Given the description of an element on the screen output the (x, y) to click on. 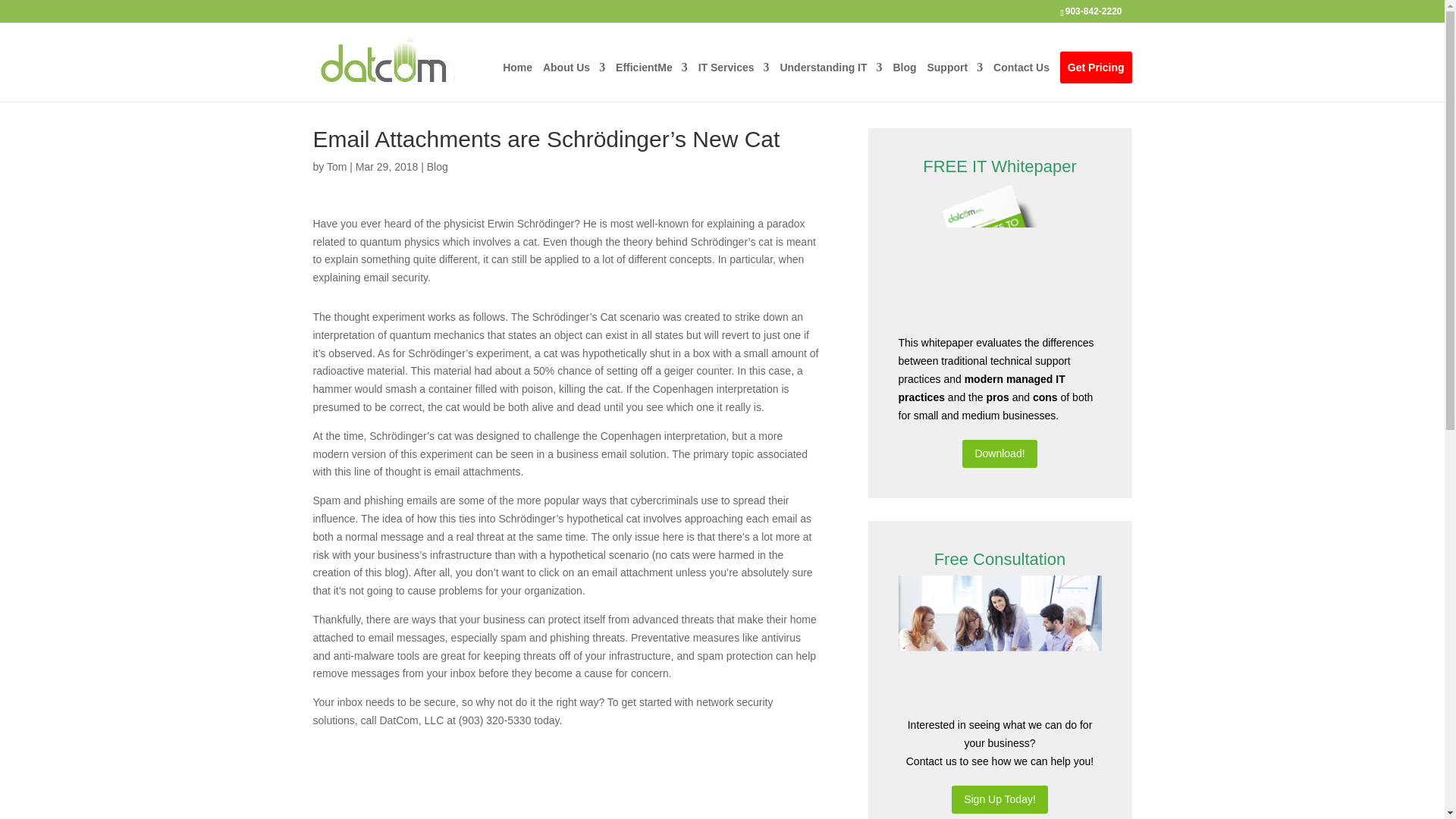
903-842-2220 (1093, 10)
EfficientMe (651, 81)
Posts by Tom (336, 166)
About Us (574, 81)
IT Services (734, 81)
